Given the description of an element on the screen output the (x, y) to click on. 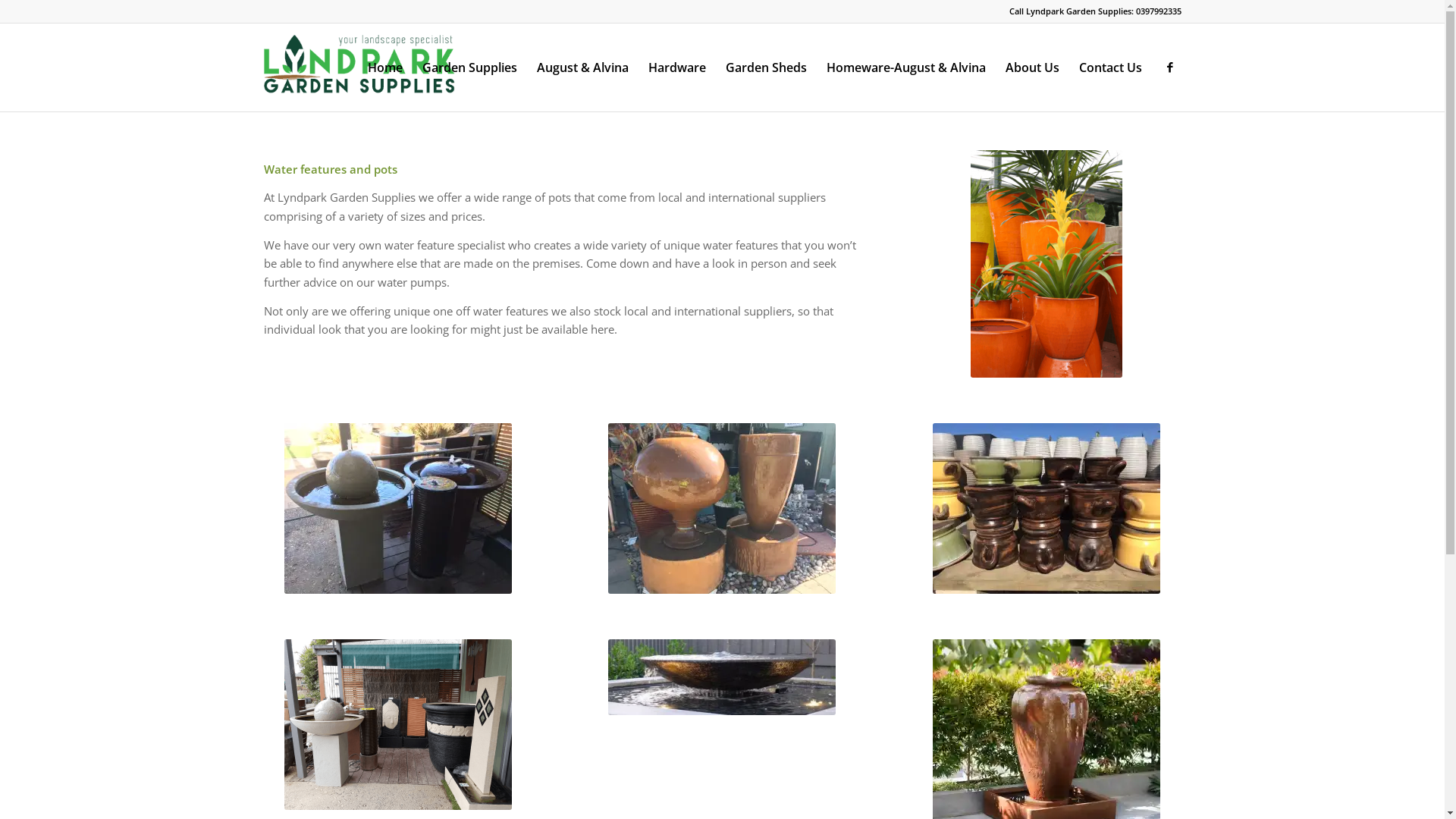
Garden Sheds Element type: text (765, 67)
Home Element type: text (384, 67)
Homeware-August & Alvina Element type: text (904, 67)
Contact Us Element type: text (1110, 67)
About Us Element type: text (1031, 67)
Facebook Element type: hover (1169, 66)
August & Alvina Element type: text (581, 67)
Hardware Element type: text (676, 67)
Garden Supplies Element type: text (469, 67)
